Given the description of an element on the screen output the (x, y) to click on. 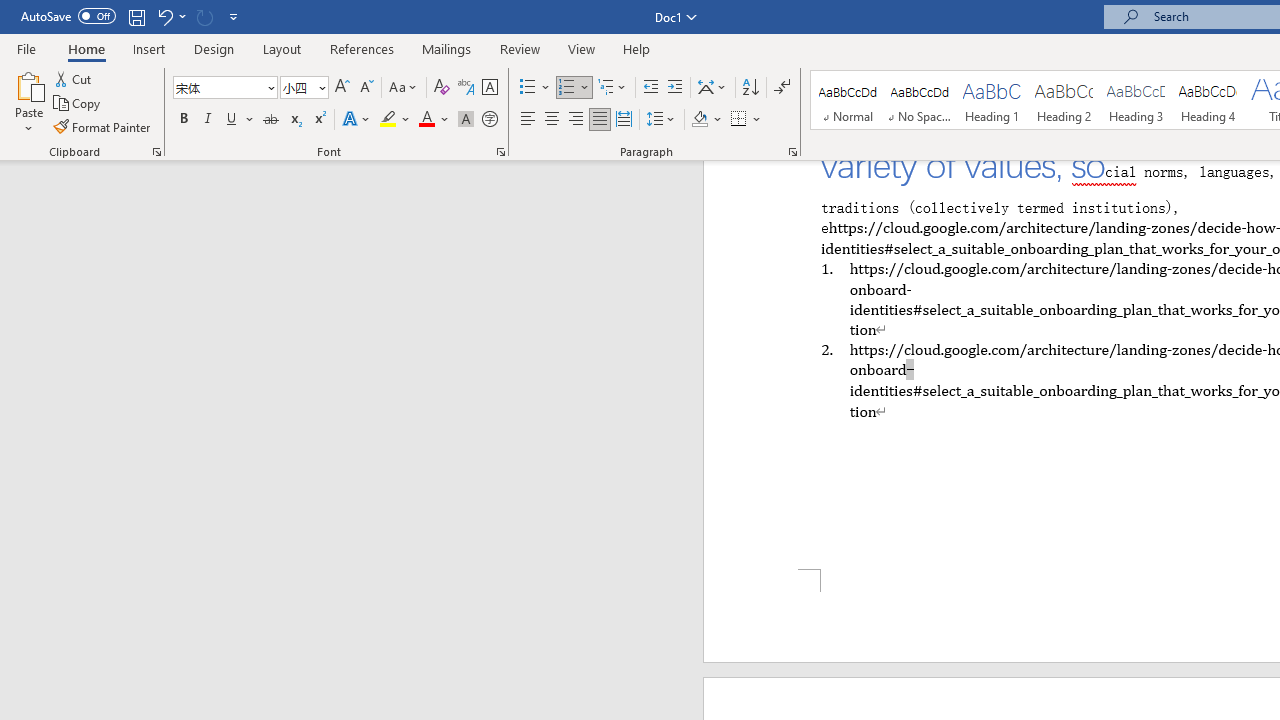
Distributed (623, 119)
Center (552, 119)
Align Right (575, 119)
Show/Hide Editing Marks (781, 87)
Copy (78, 103)
Format Painter (103, 126)
Bold (183, 119)
